Given the description of an element on the screen output the (x, y) to click on. 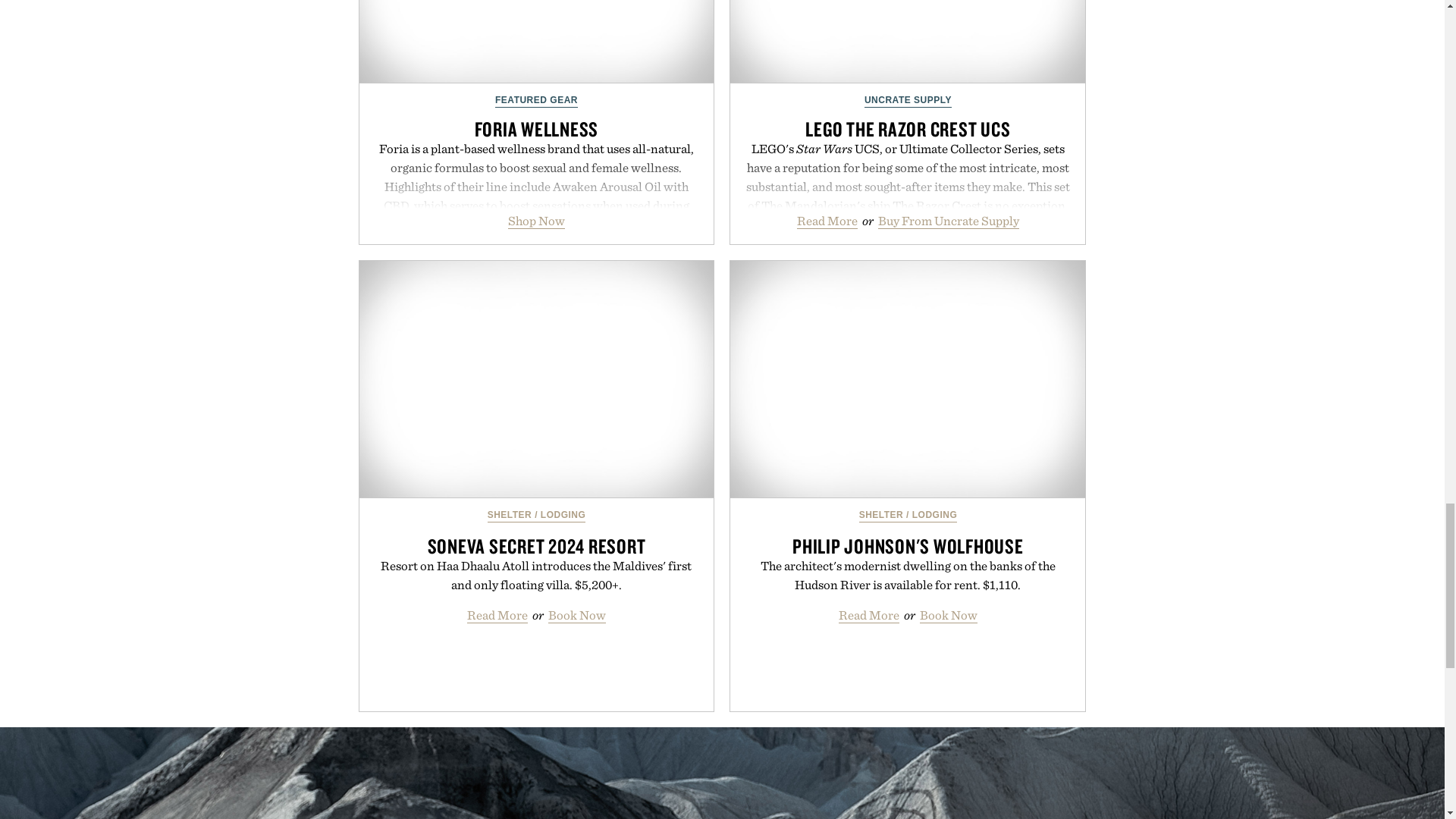
LEGO The Razor Crest UCS (907, 41)
Foria Wellness (536, 41)
Soneva Secret 2024 Resort (536, 379)
